Given the description of an element on the screen output the (x, y) to click on. 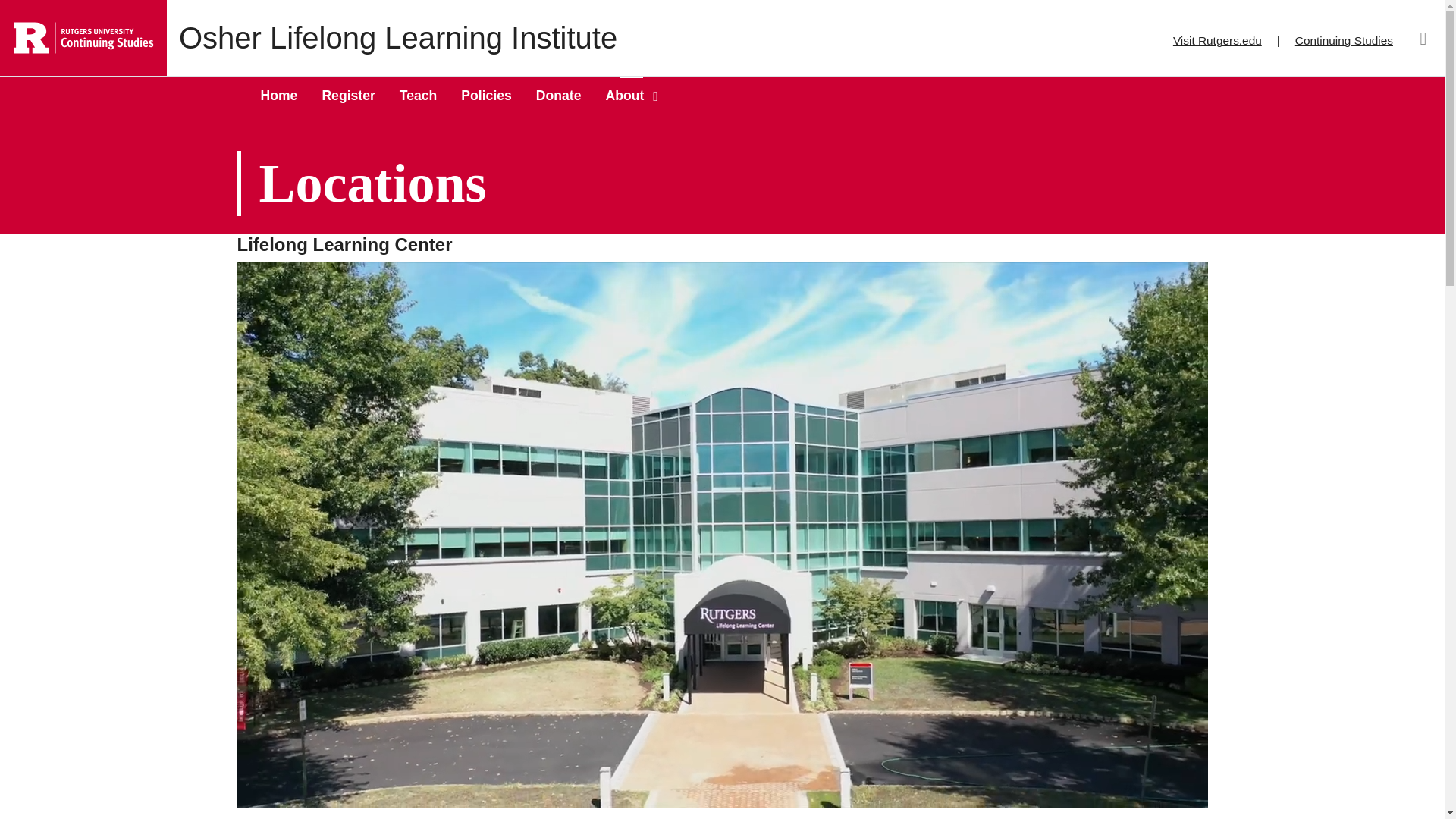
Policies (486, 95)
Continuing Studies (1343, 37)
Expand menu About (623, 95)
Register (347, 95)
Teach (418, 95)
About (623, 95)
Donate (558, 95)
Home (83, 37)
Show or Hide Search Form (1422, 37)
Osher Lifelong Learning Institute (392, 37)
Home (279, 95)
Home (392, 37)
Show submenu of "About" (656, 95)
Visit Rutgers.edu (1217, 37)
